Given the description of an element on the screen output the (x, y) to click on. 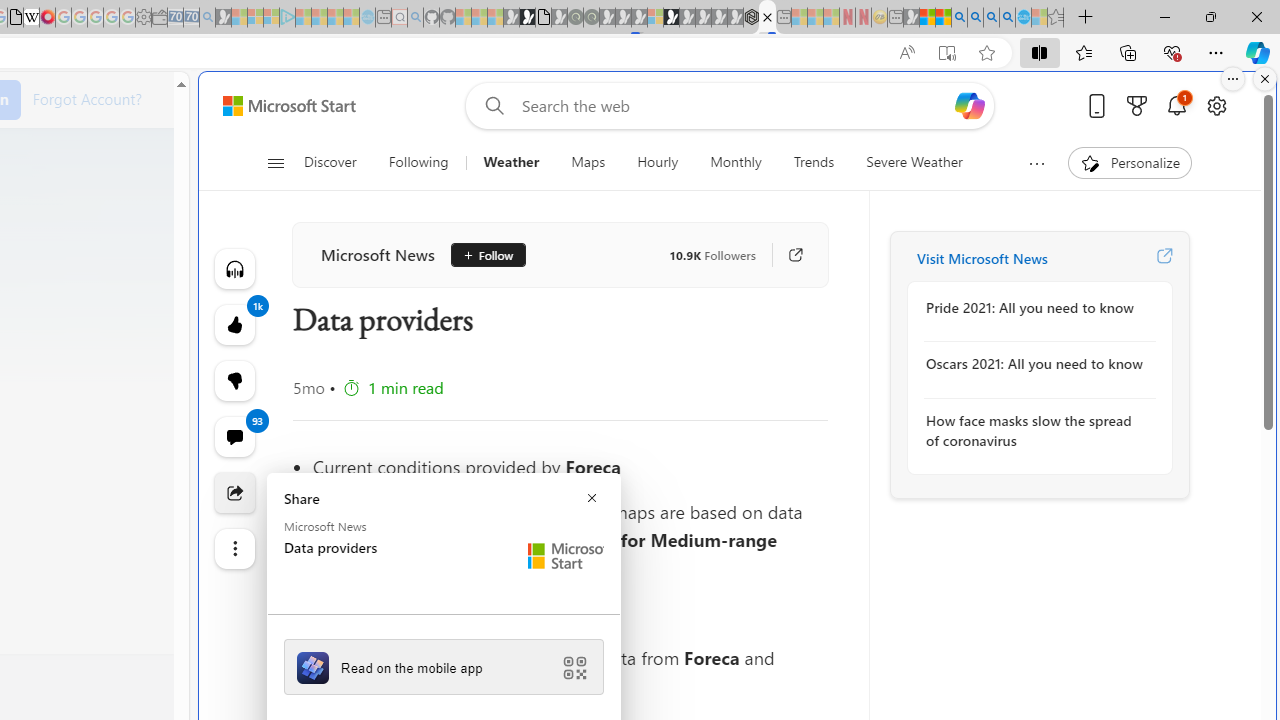
Listen to this article (234, 268)
Trends (813, 162)
Bing AI - Search (959, 17)
Forgot Account? (87, 97)
